Given the description of an element on the screen output the (x, y) to click on. 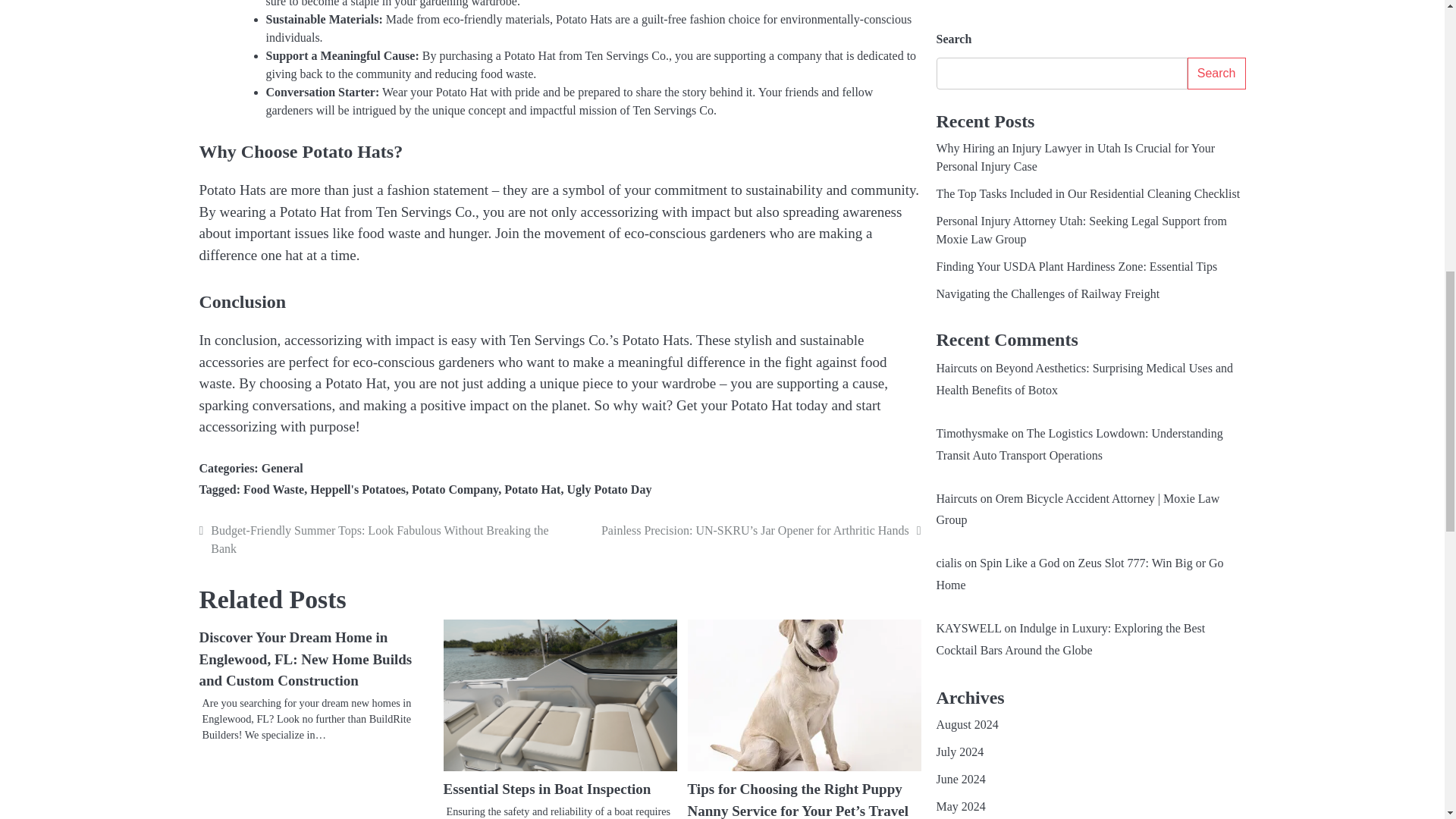
Food Waste (273, 489)
Essential Steps in Boat Inspection (546, 788)
August 2024 (966, 32)
Potato Hat (531, 489)
Ugly Potato Day (608, 489)
Potato Company (454, 489)
Heppell's Potatoes (358, 489)
General (282, 468)
